Given the description of an element on the screen output the (x, y) to click on. 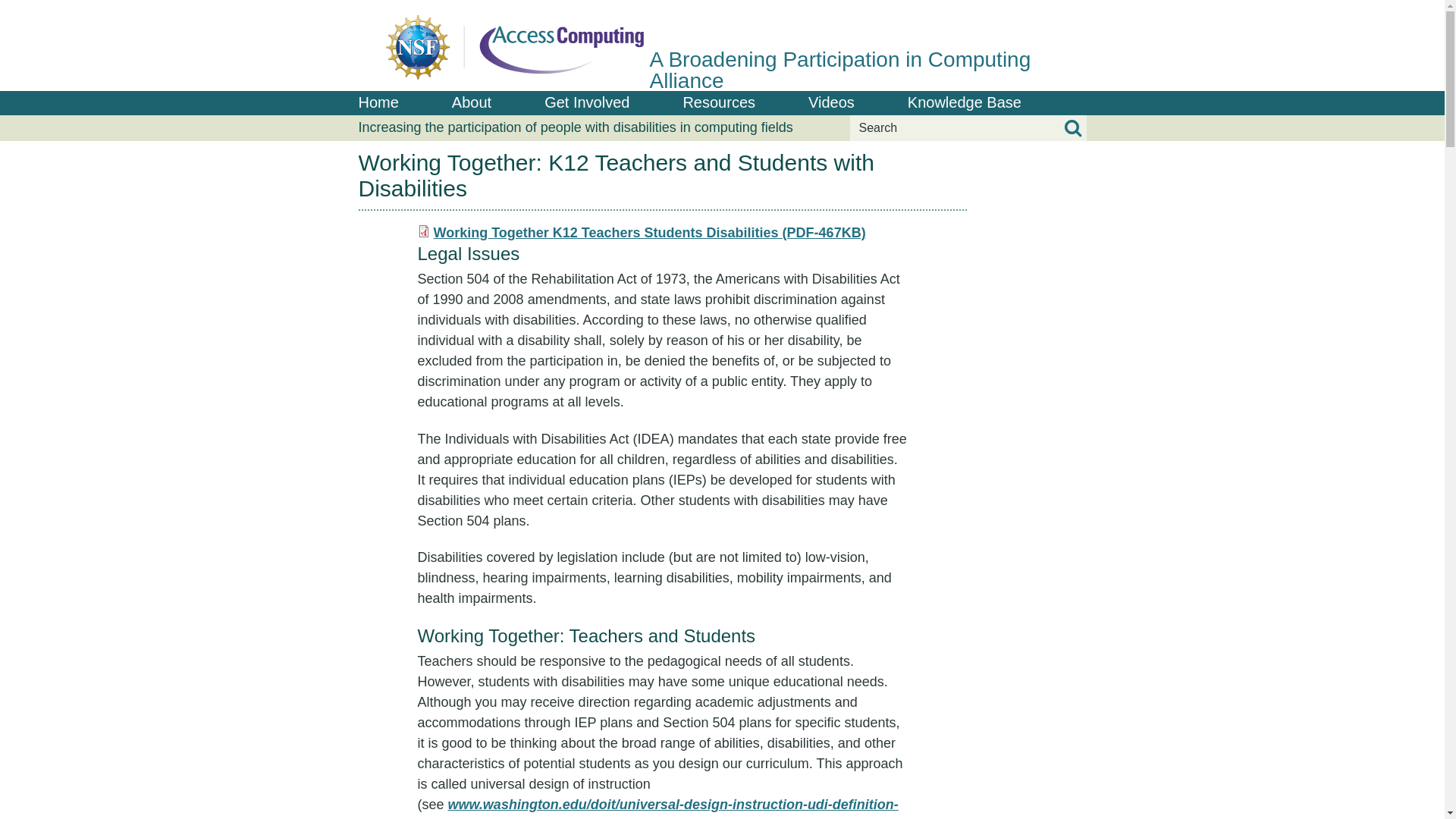
About (471, 103)
Home (377, 103)
Go (1072, 128)
A Broadening Participation in Computing Alliance (722, 45)
Enter the terms you wish to search for. (967, 127)
Working-Together-K12-Teachers-Students-Disabilities.pdf (649, 232)
Home (722, 45)
Go (1072, 128)
Resources (718, 103)
